Given the description of an element on the screen output the (x, y) to click on. 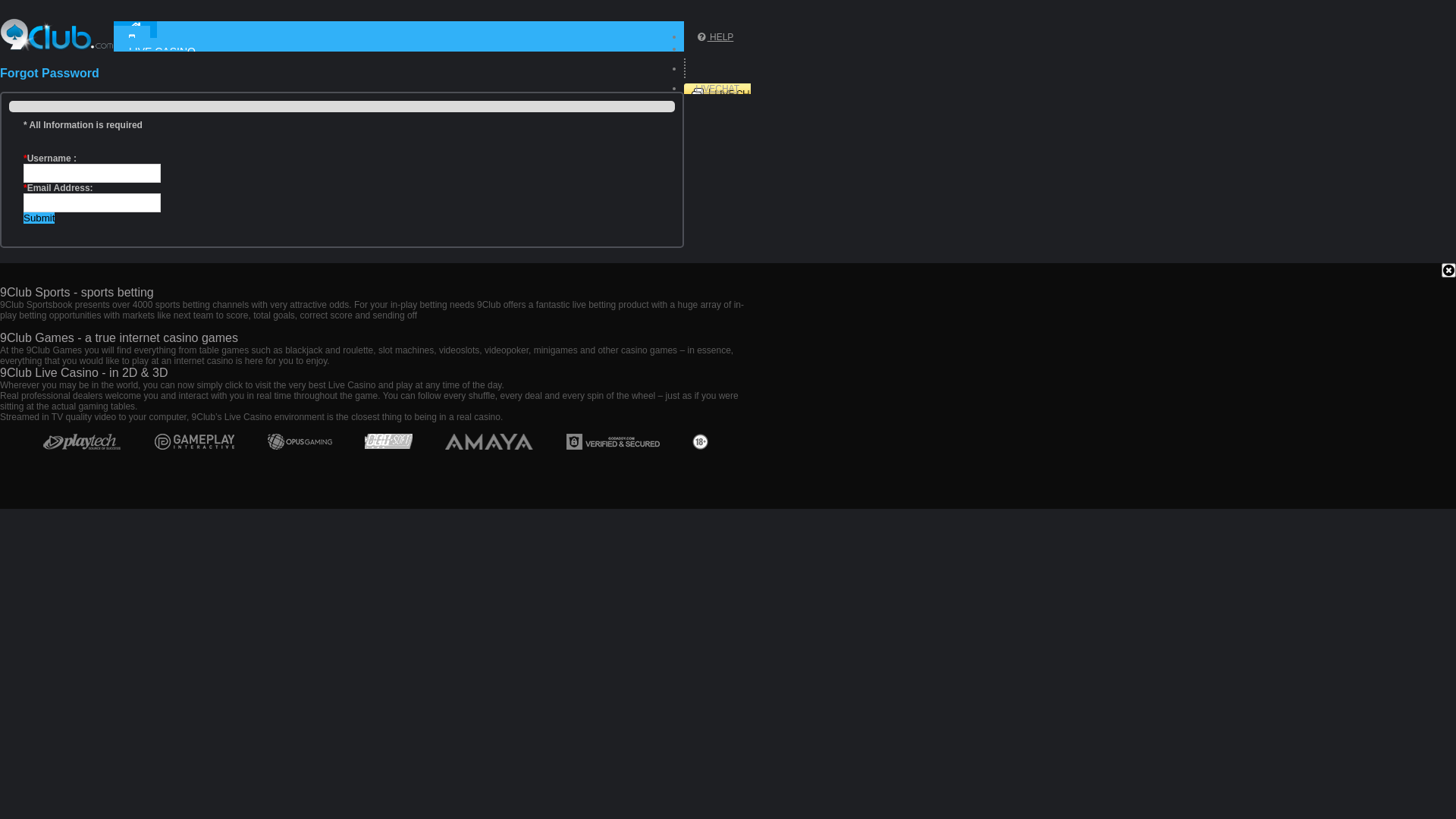
Submit Element type: text (38, 217)
SPORTS Element type: text (150, 63)
LIVECHAT Element type: text (717, 88)
LIVE CASINO Element type: text (161, 51)
HELP Element type: text (714, 36)
